Given the description of an element on the screen output the (x, y) to click on. 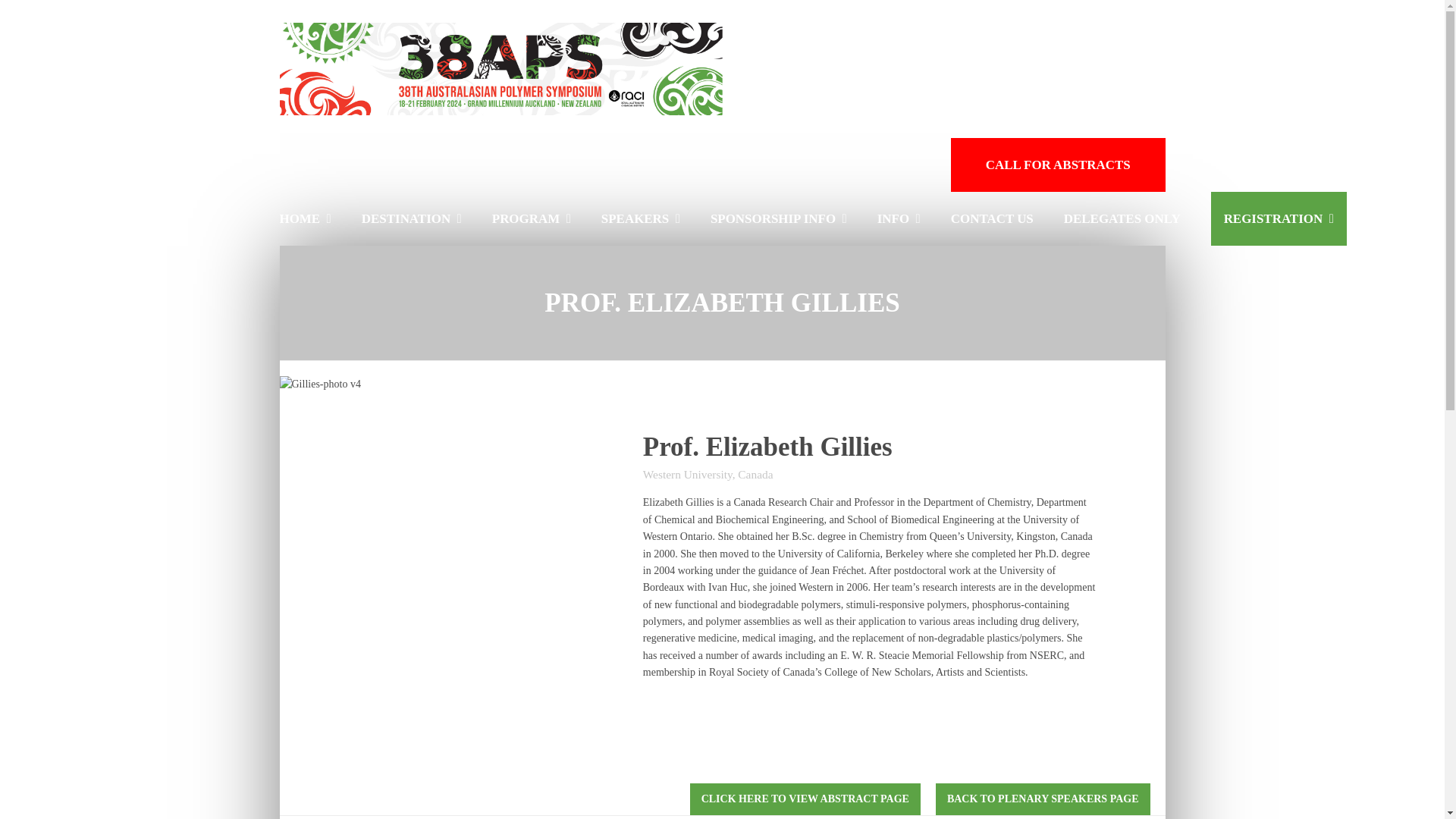
CONTACT US (991, 218)
SPEAKERS (640, 218)
PROGRAM (531, 218)
DESTINATION (411, 218)
REGISTRATION (1278, 218)
SPONSORSHIP INFO (778, 218)
HOME (304, 218)
DELEGATES ONLY (1122, 218)
